Given the description of an element on the screen output the (x, y) to click on. 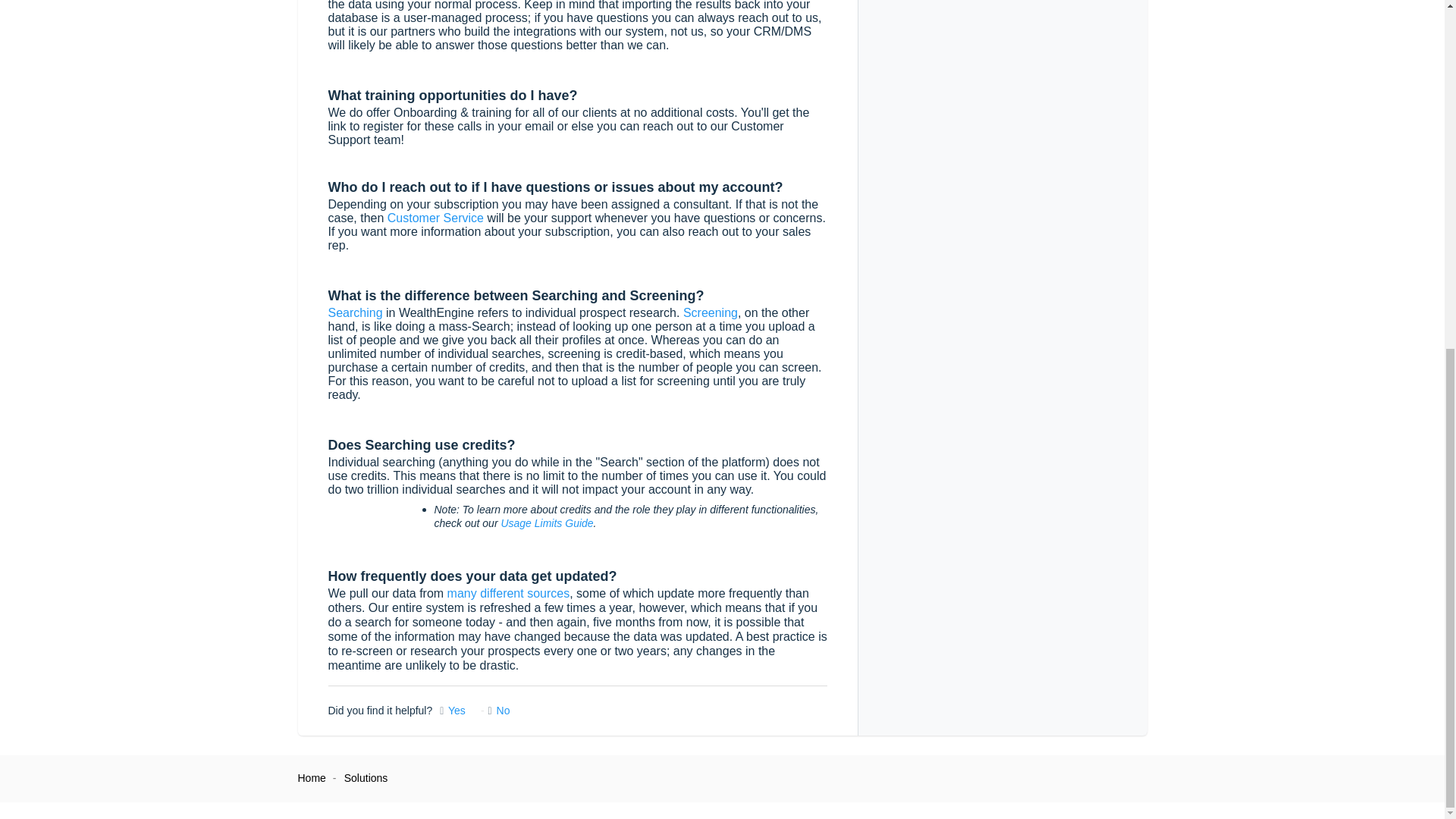
Searching (354, 311)
Customer Service (435, 217)
Home (310, 777)
many different sources (508, 592)
Solutions (365, 777)
Screening (710, 311)
Chat (1406, 177)
Usage Limits Guide (546, 522)
